Given the description of an element on the screen output the (x, y) to click on. 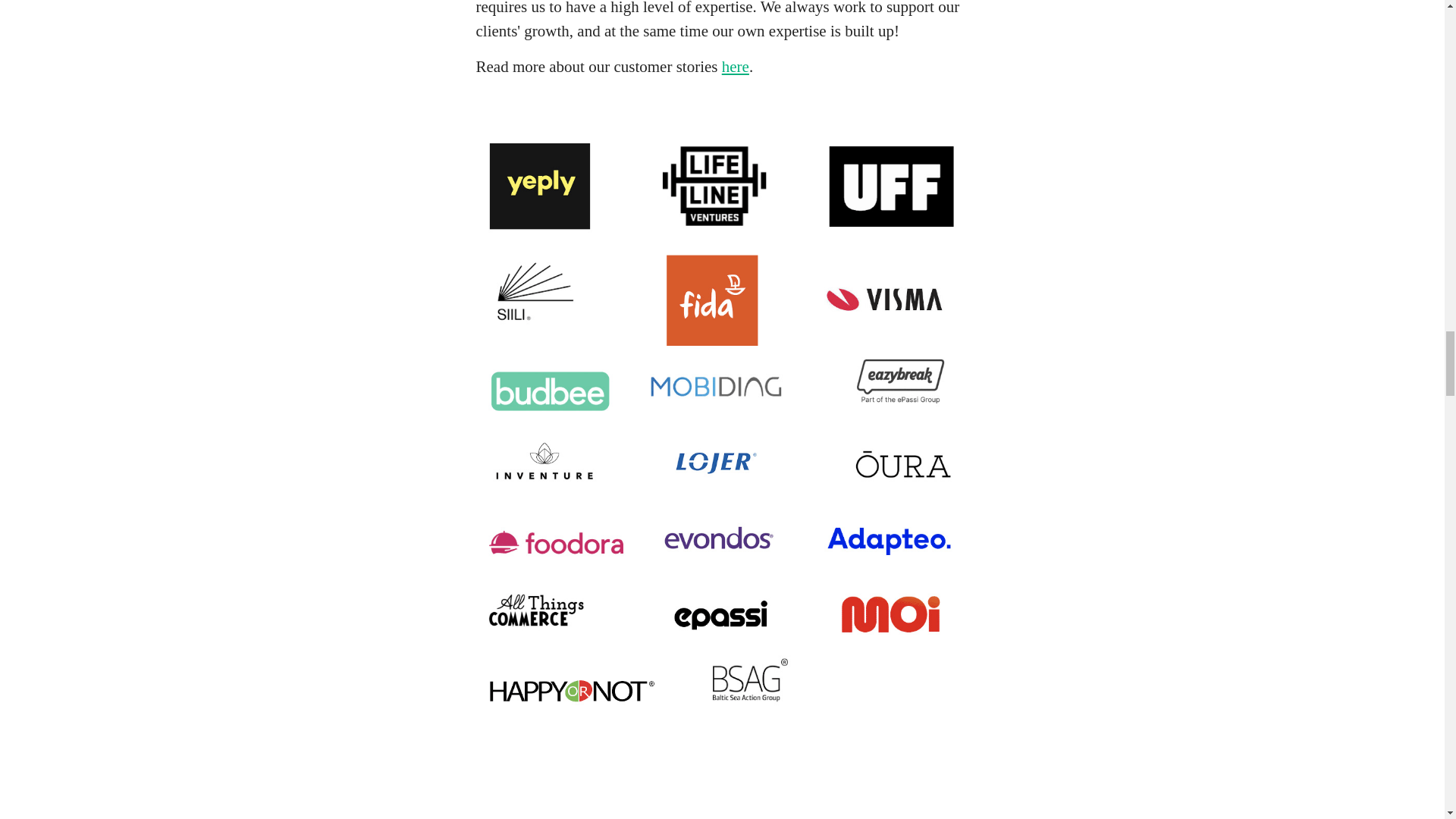
here (735, 66)
